Given the description of an element on the screen output the (x, y) to click on. 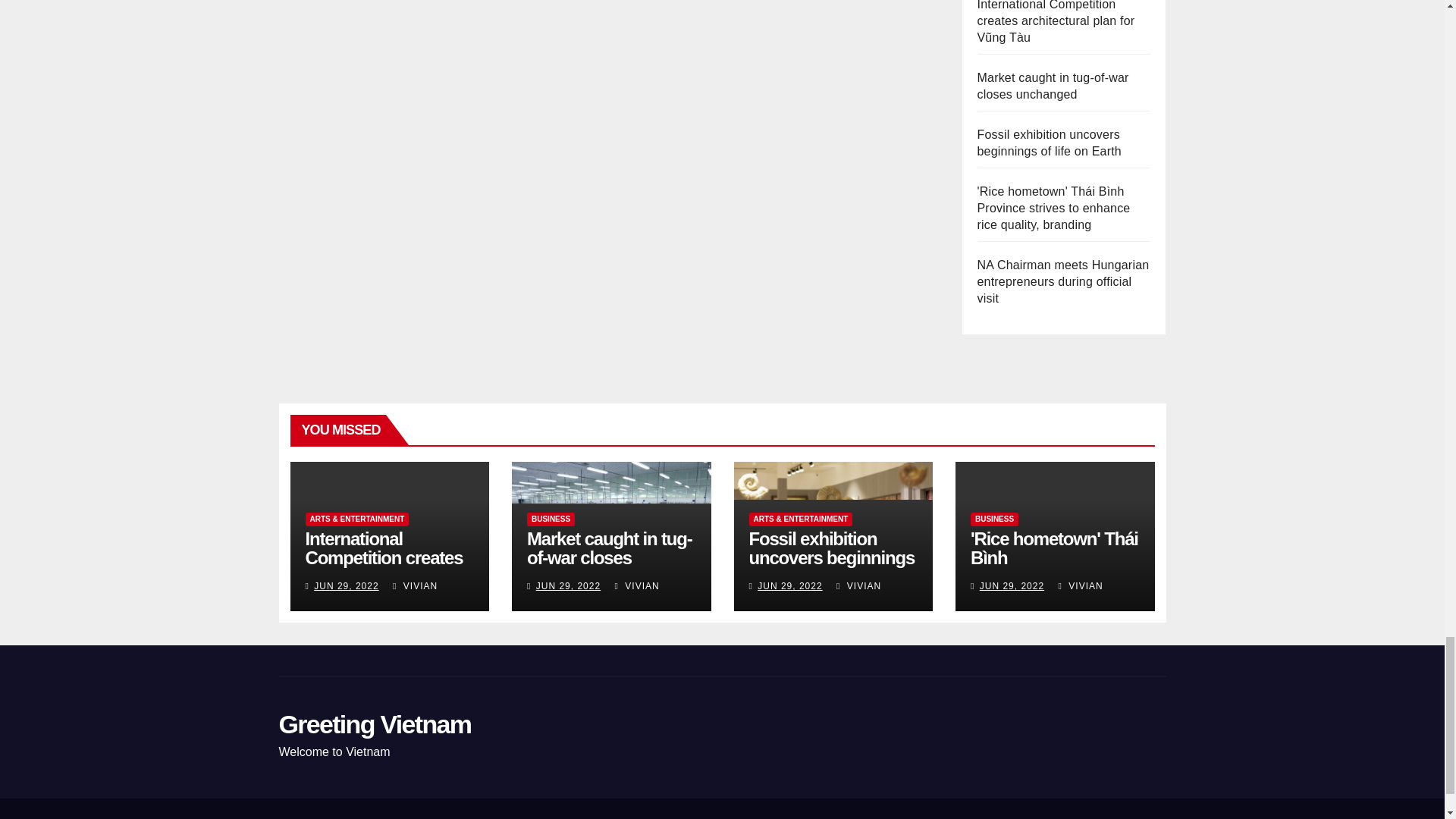
Home (754, 818)
Permalink to: Market caught in tug-of-war closes unchanged (609, 557)
